Given the description of an element on the screen output the (x, y) to click on. 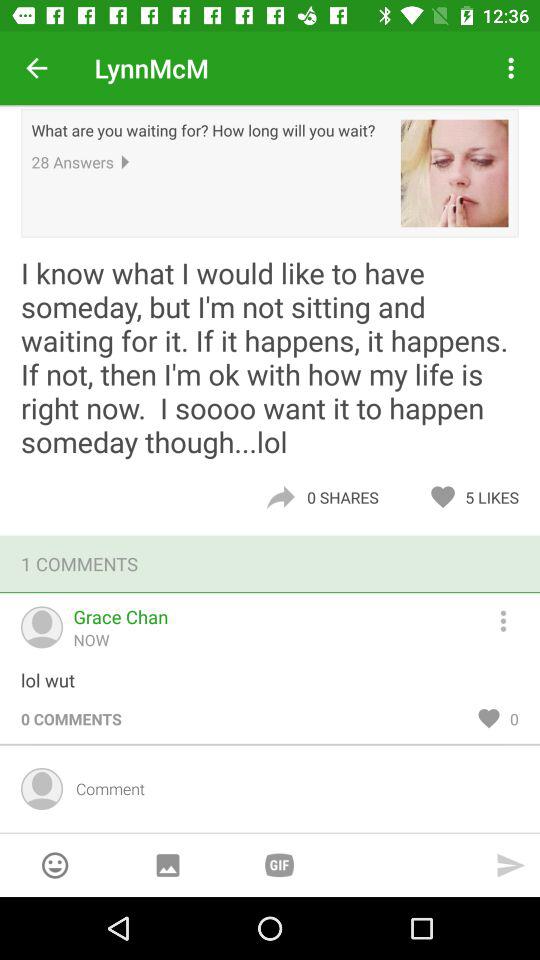
tap 5 likes icon (497, 497)
